Given the description of an element on the screen output the (x, y) to click on. 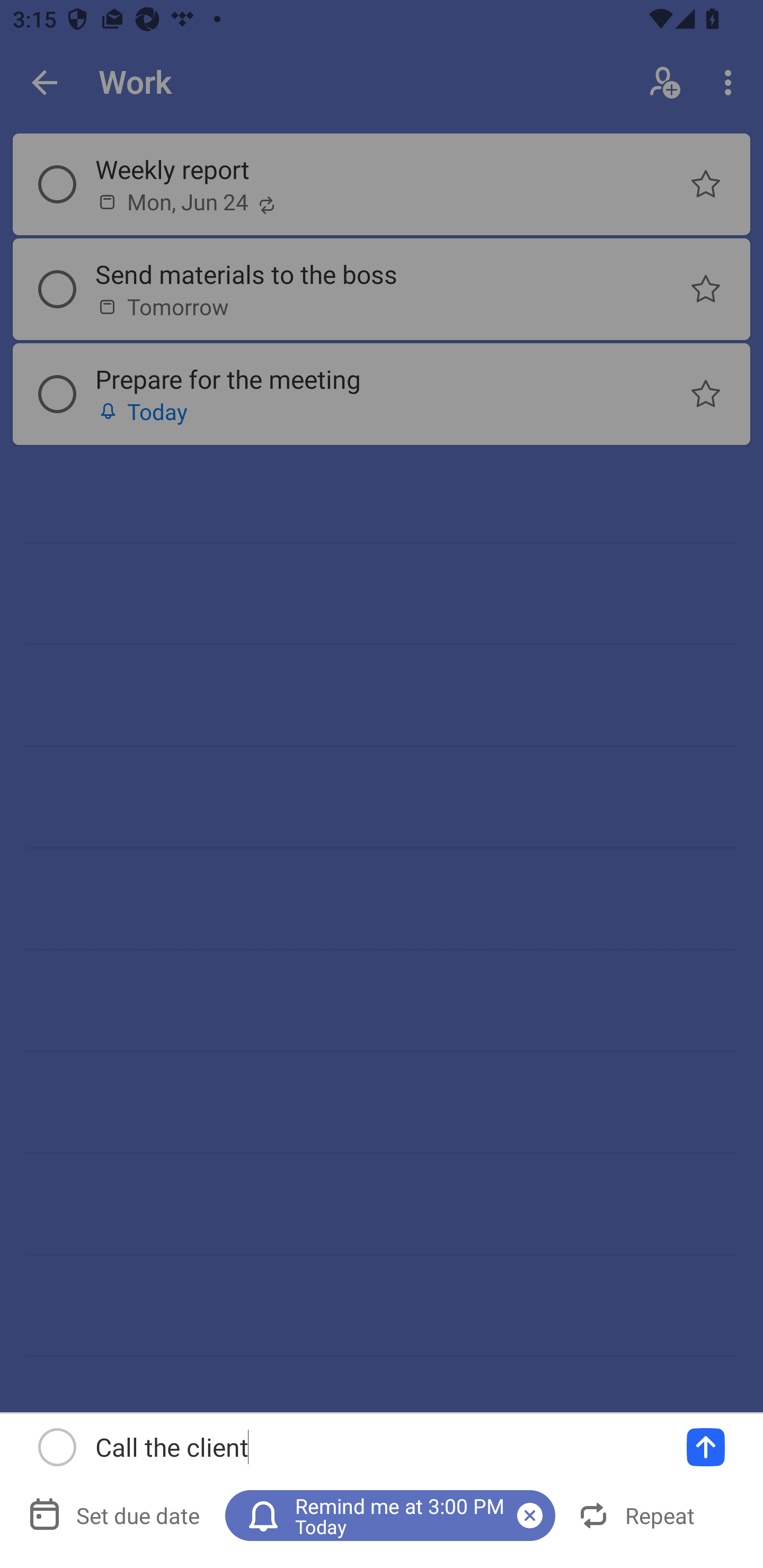
Add a task (705, 1446)
